Given the description of an element on the screen output the (x, y) to click on. 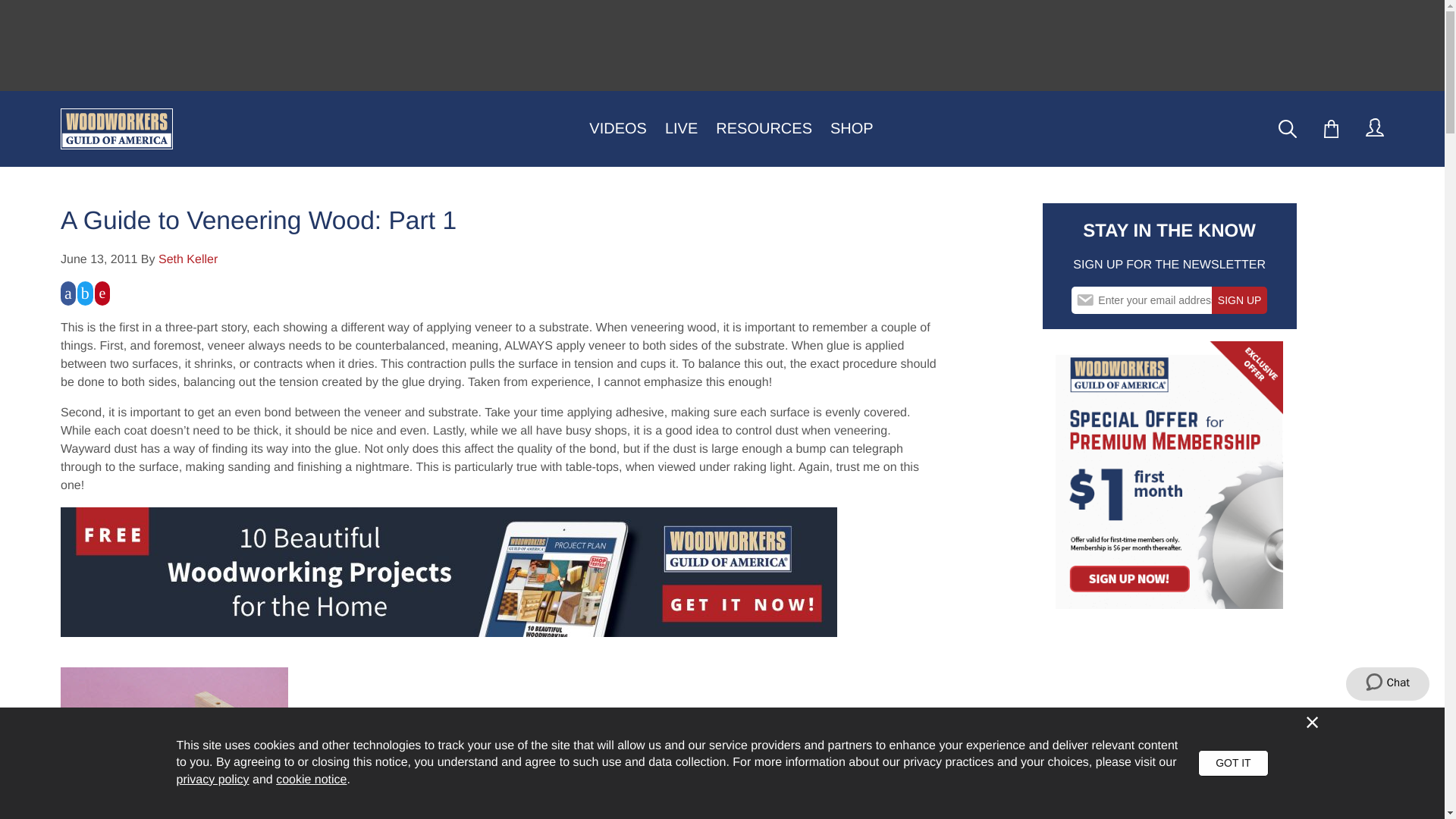
Sign Up (1238, 299)
RESOURCES (764, 128)
Home (117, 128)
WoodWorkers Guild of America Clickable Logo (121, 128)
Seth Keller (187, 259)
